Given the description of an element on the screen output the (x, y) to click on. 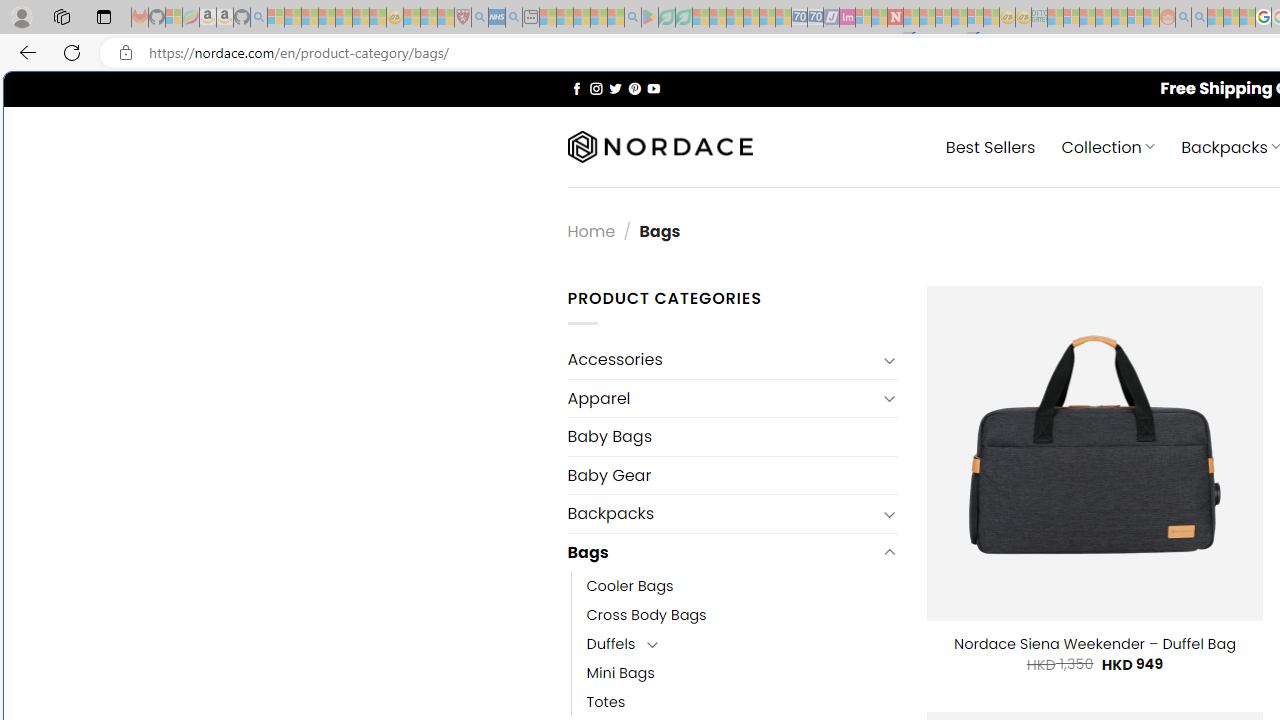
Cross Body Bags (646, 614)
Follow on Instagram (596, 88)
